Given the description of an element on the screen output the (x, y) to click on. 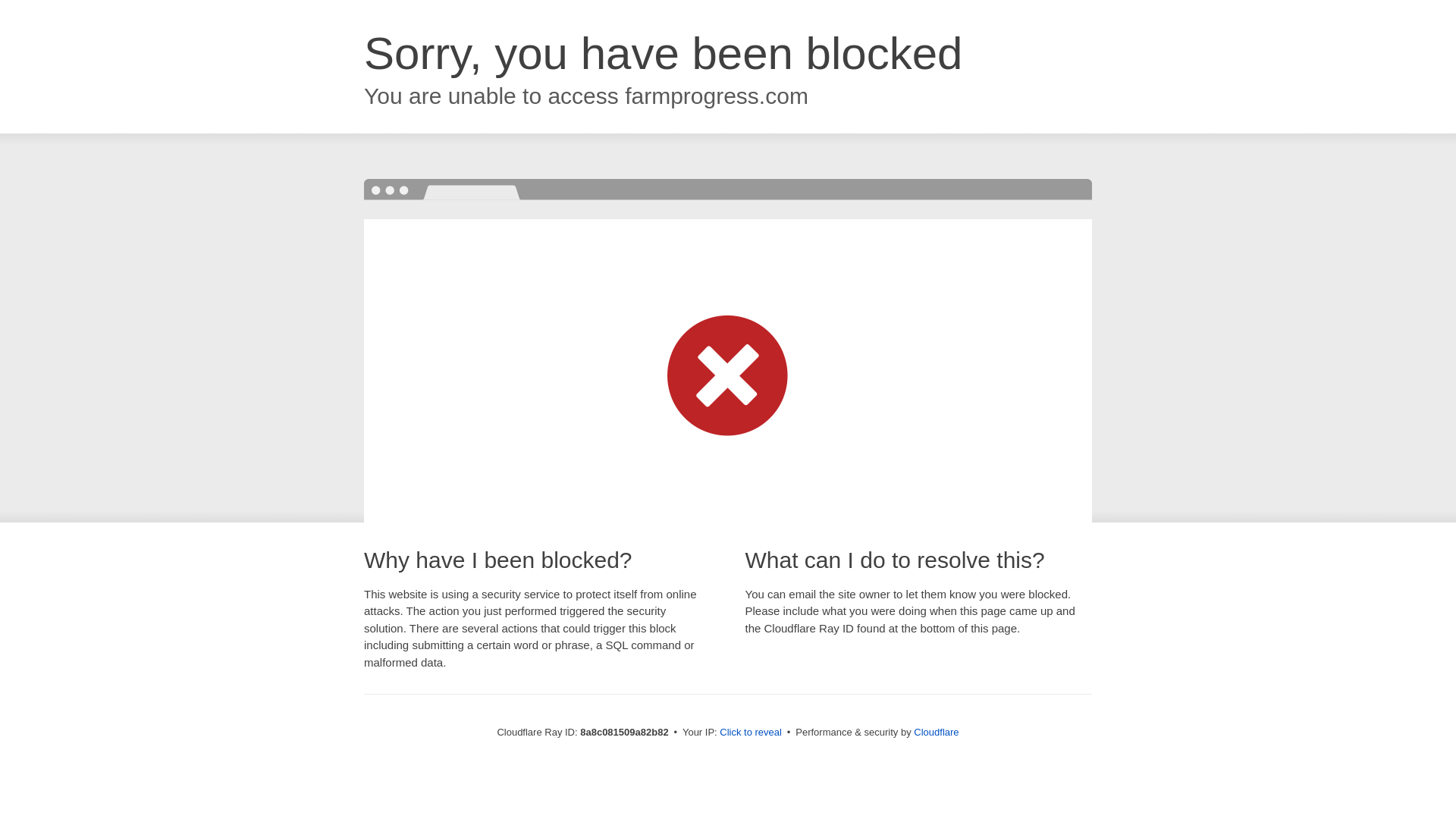
Cloudflare (936, 731)
Click to reveal (750, 732)
